Given the description of an element on the screen output the (x, y) to click on. 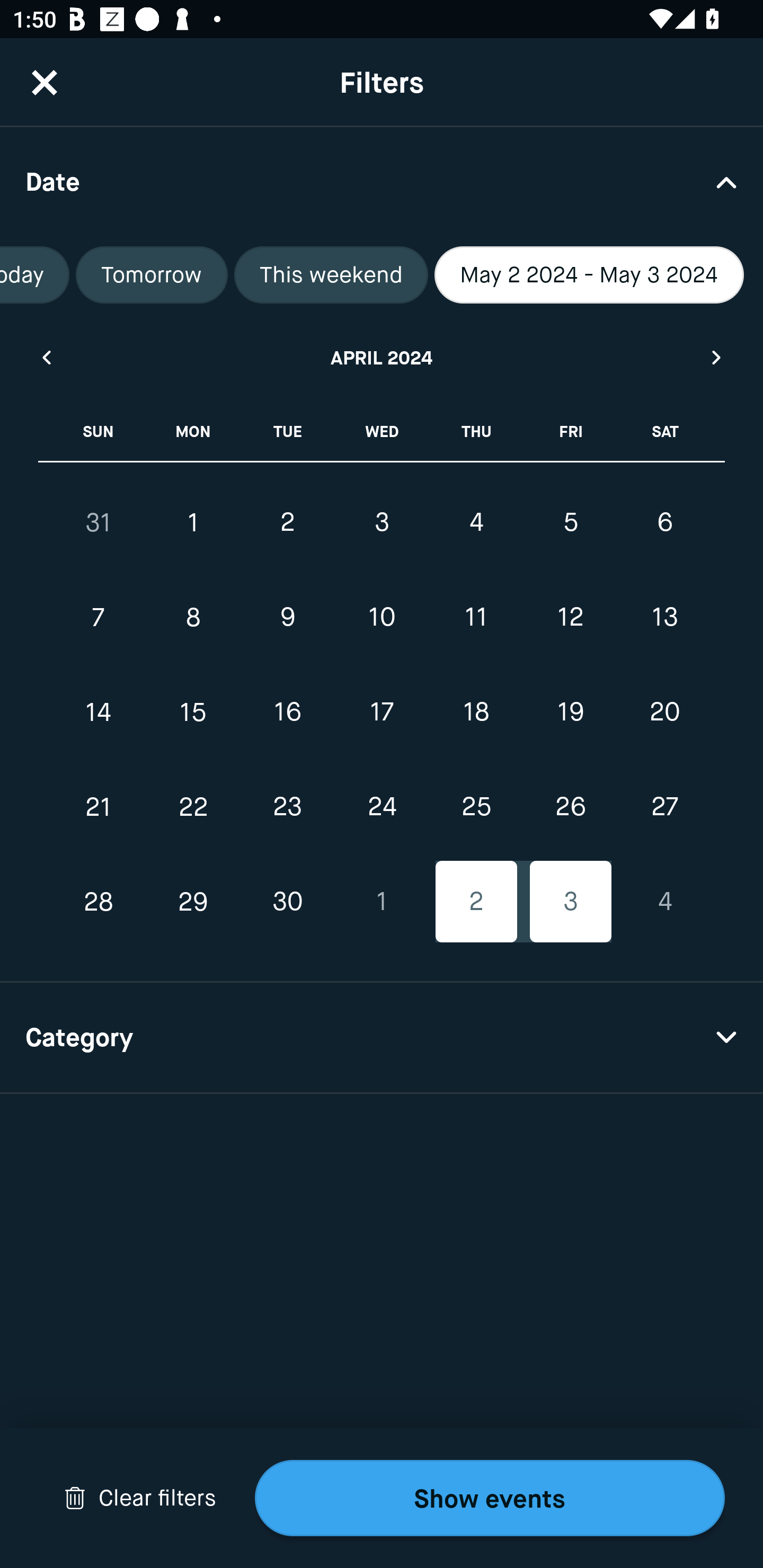
CloseButton (44, 82)
Date Drop Down Arrow (381, 181)
Today (34, 274)
Tomorrow (151, 274)
This weekend (331, 274)
May 2 2024 - May 3 2024 (588, 274)
Previous (45, 357)
Next (717, 357)
31 (98, 522)
1 (192, 522)
2 (287, 522)
3 (381, 522)
4 (475, 522)
5 (570, 522)
6 (664, 522)
7 (98, 617)
8 (192, 617)
9 (287, 617)
10 (381, 617)
11 (475, 617)
12 (570, 617)
13 (664, 617)
14 (98, 711)
15 (192, 711)
16 (287, 711)
17 (381, 711)
18 (475, 711)
19 (570, 711)
20 (664, 711)
21 (98, 806)
22 (192, 806)
23 (287, 806)
24 (381, 806)
25 (475, 806)
26 (570, 806)
27 (664, 806)
28 (98, 901)
29 (192, 901)
30 (287, 901)
1 (381, 901)
2 (475, 901)
3 (570, 901)
4 (664, 901)
Category Drop Down Arrow (381, 1038)
Drop Down Arrow Clear filters (139, 1497)
Show events (489, 1497)
